Given the description of an element on the screen output the (x, y) to click on. 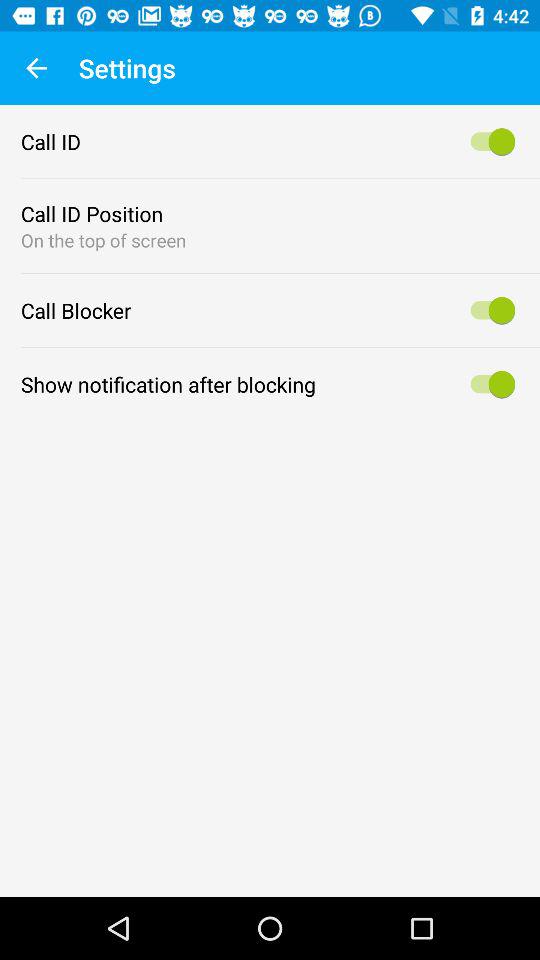
toggle show notification after blocking option (489, 383)
